Given the description of an element on the screen output the (x, y) to click on. 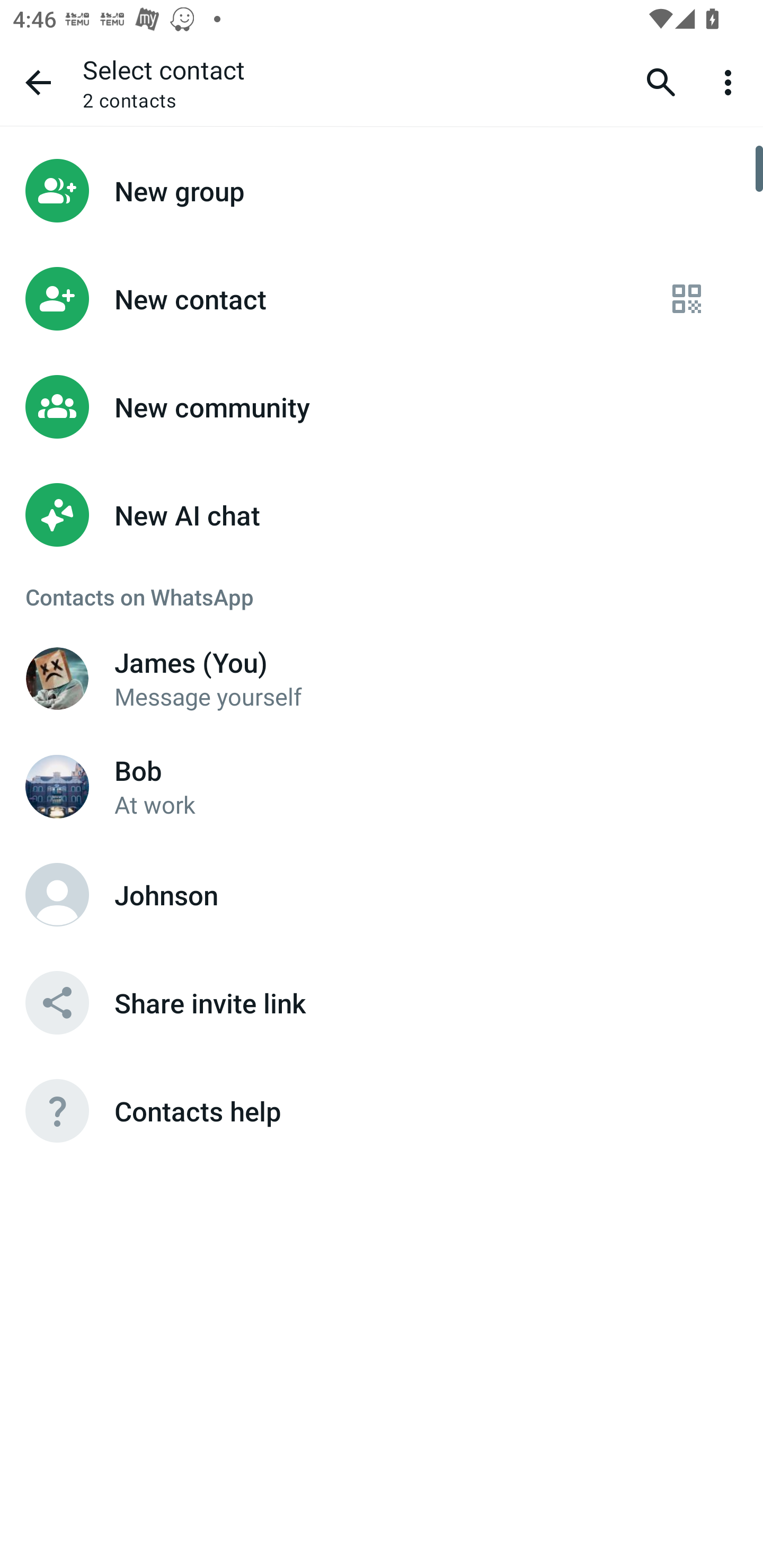
Navigate up (38, 82)
Search (661, 81)
More options (731, 81)
New group (381, 190)
New contact Scan, share QR code (381, 298)
Scan, share QR code (686, 298)
New community (381, 406)
New AI chat (381, 514)
Contacts on WhatsApp (381, 596)
+1 (646) 208-1425 James (You) Message yourself (381, 678)
+1 (646) 208-1425 (57, 678)
Bob Bob ‎At work   (381, 786)
Bob (57, 786)
Johnson (381, 894)
Johnson (57, 894)
Share invite link (381, 1002)
Contacts help (381, 1110)
